Given the description of an element on the screen output the (x, y) to click on. 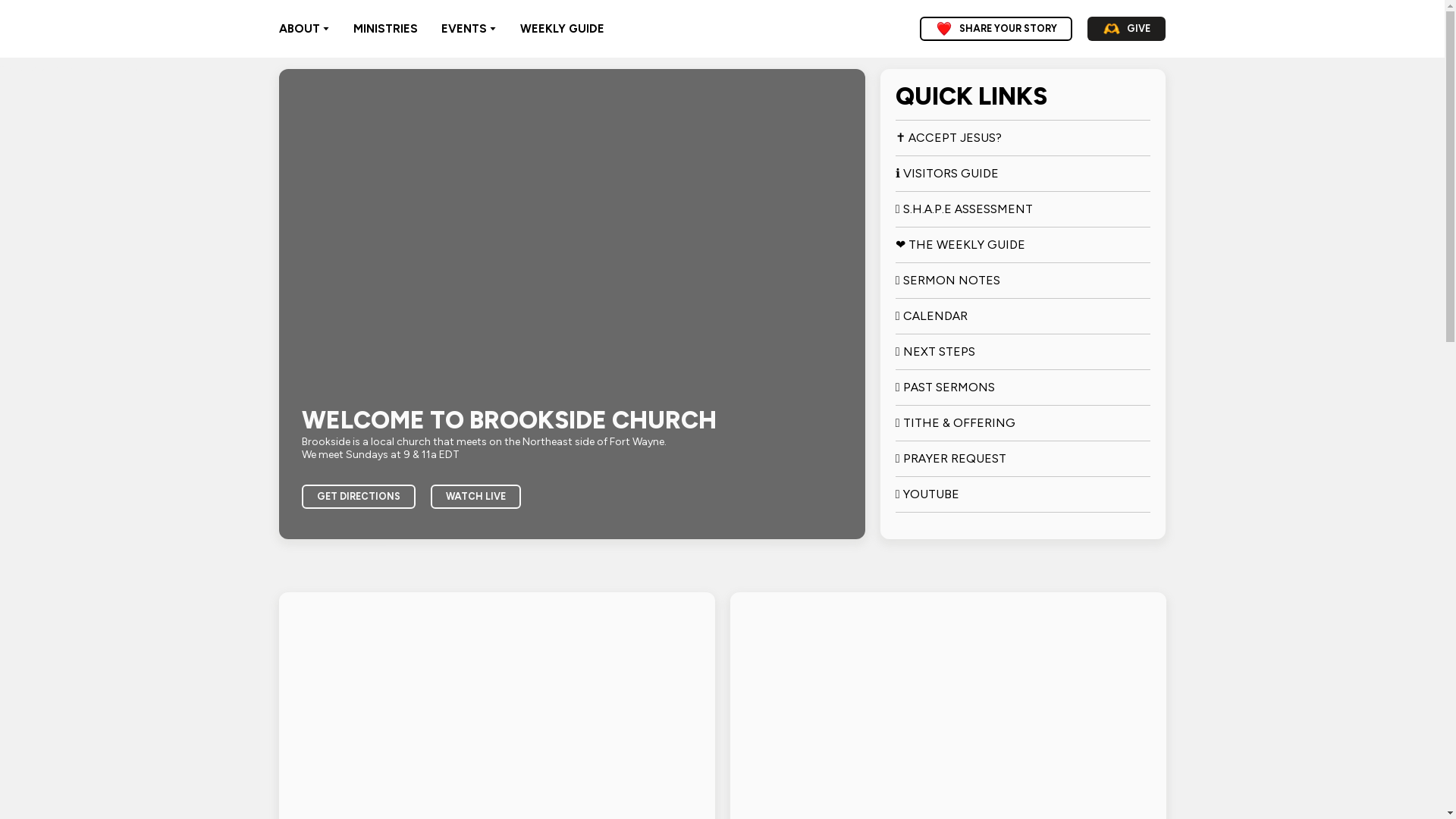
MINISTRIES (385, 29)
EVENTS (463, 29)
ABOUT (299, 29)
